Given the description of an element on the screen output the (x, y) to click on. 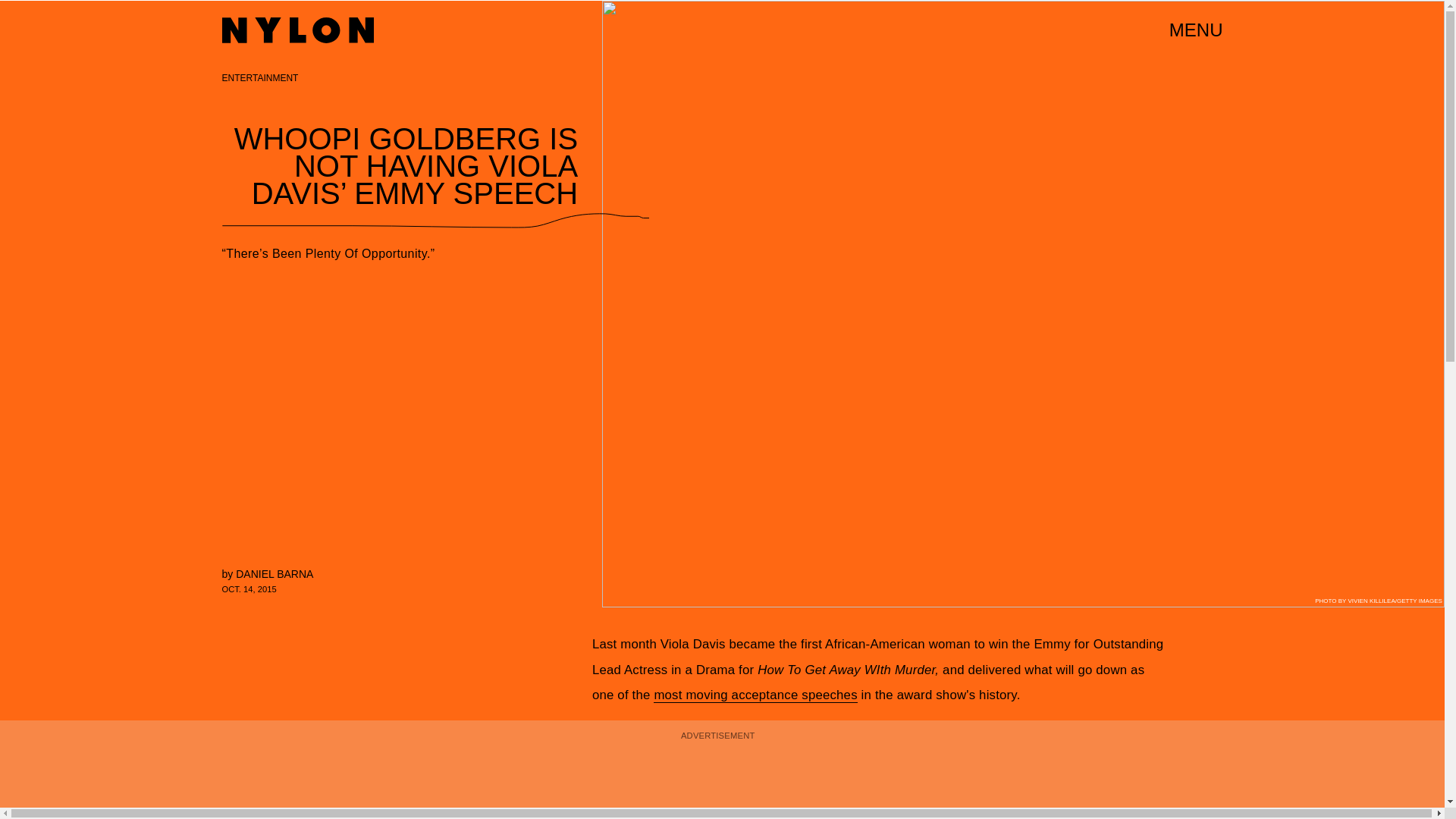
Nylon (296, 30)
most moving acceptance speeches (755, 694)
